Given the description of an element on the screen output the (x, y) to click on. 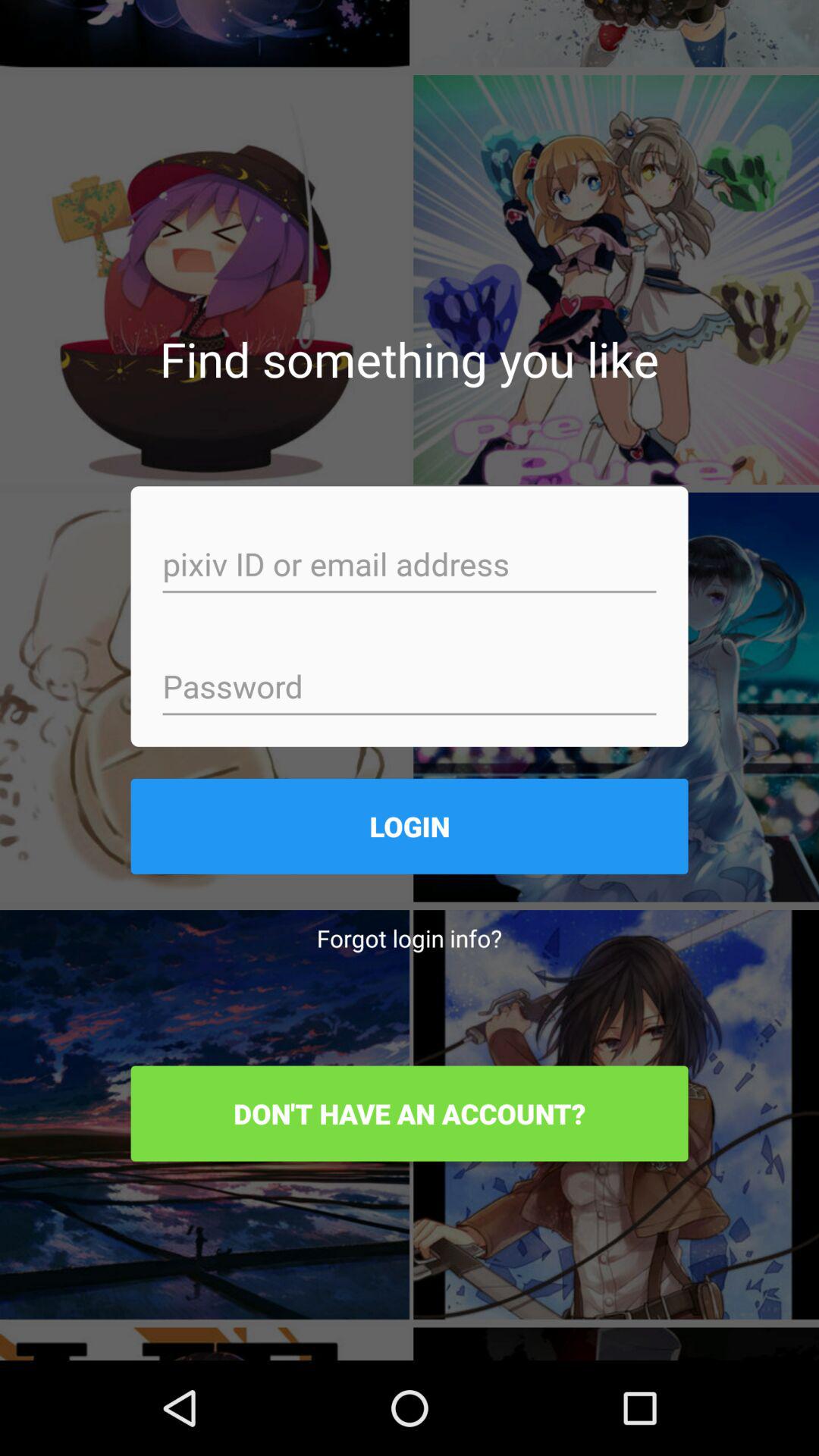
enter your email address or id (409, 565)
